Given the description of an element on the screen output the (x, y) to click on. 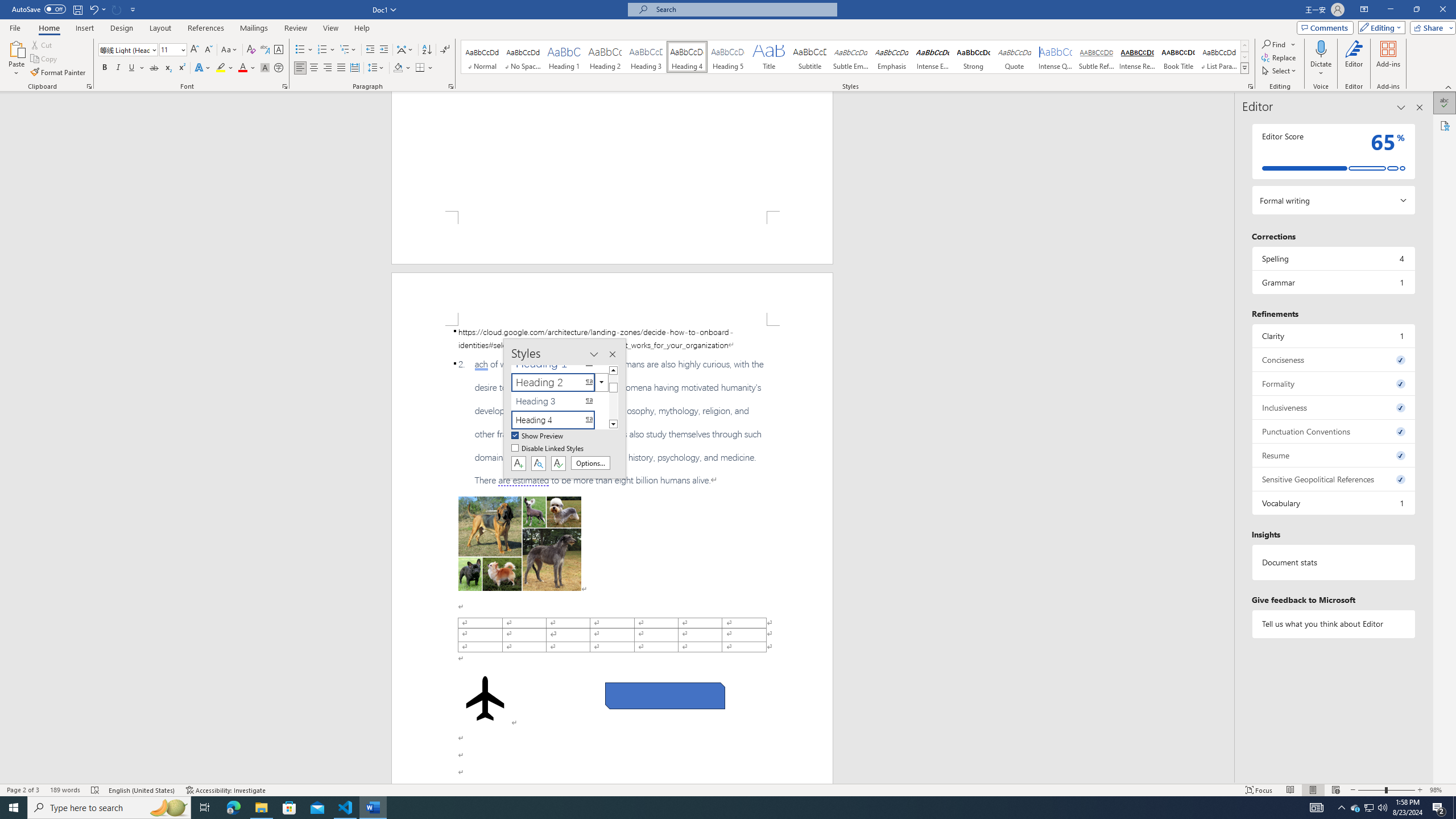
Disable Linked Styles (548, 448)
Document statistics (1333, 561)
Undo Style (96, 9)
Font Color Automatic (241, 67)
Airplane with solid fill (485, 697)
